Given the description of an element on the screen output the (x, y) to click on. 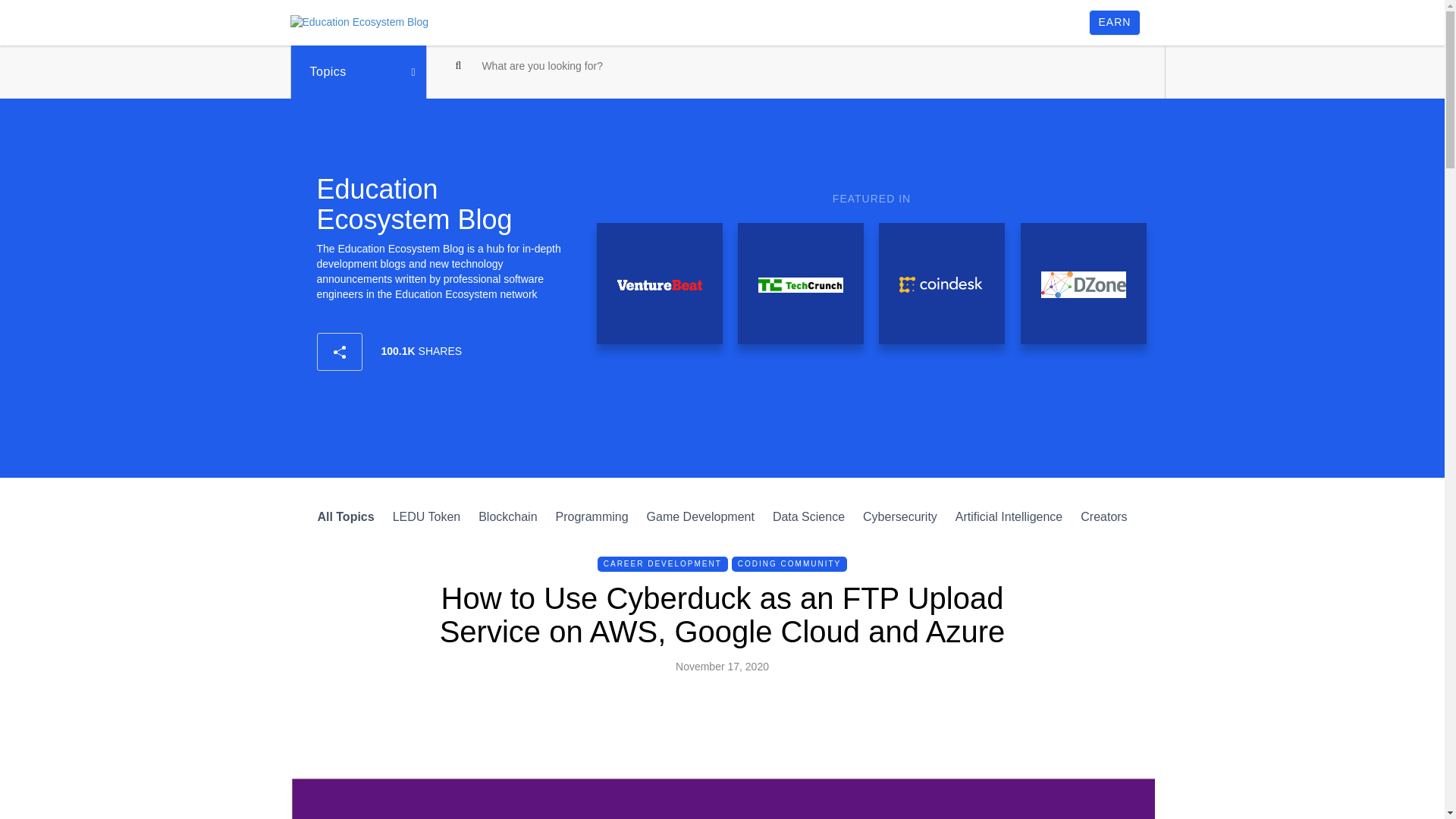
Topics (358, 71)
All Topics (345, 516)
Programming (592, 516)
Blockchain (508, 516)
EARN (1115, 22)
LEDU Token (427, 516)
